Given the description of an element on the screen output the (x, y) to click on. 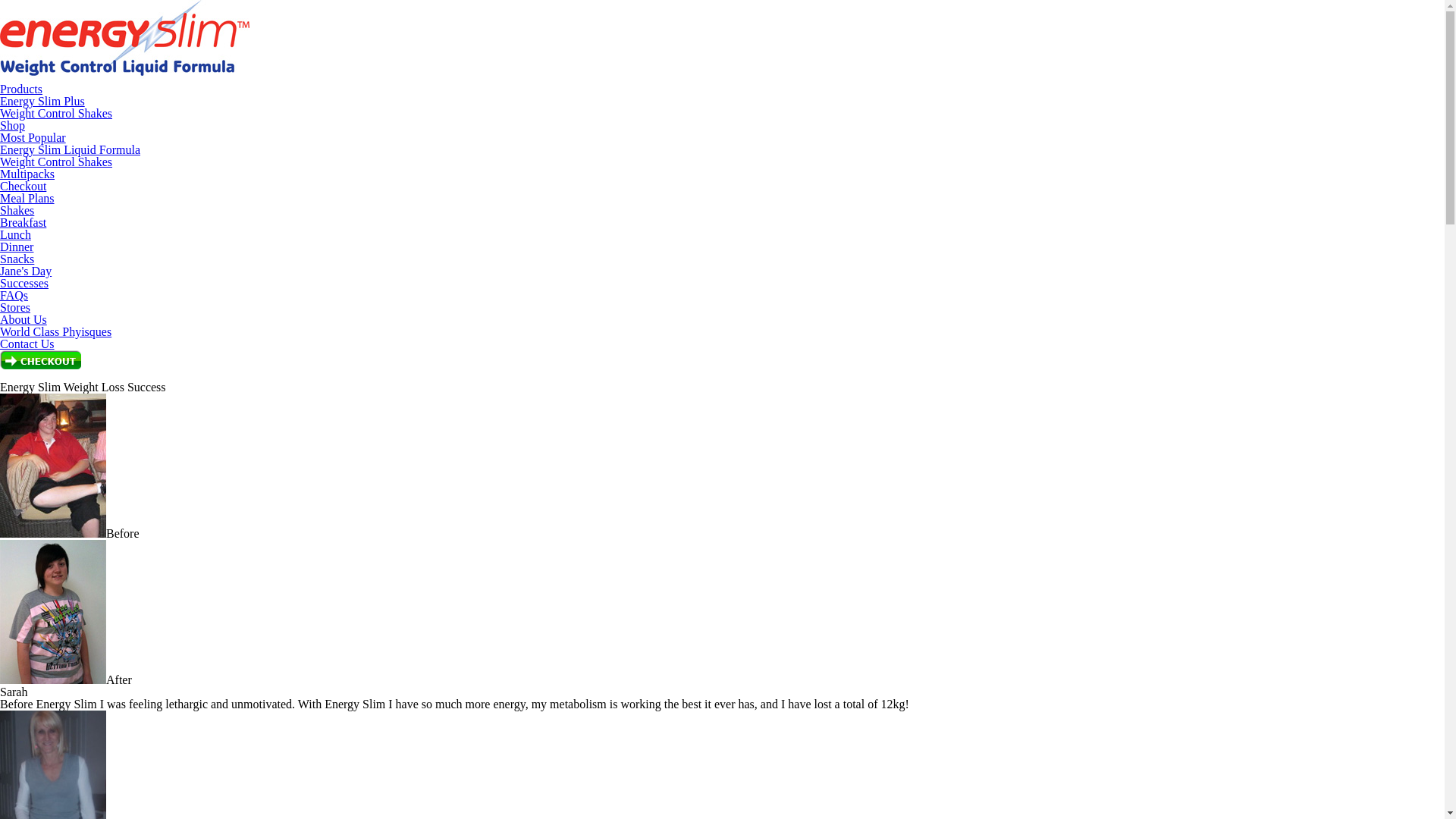
Shakes Element type: text (17, 209)
Multipacks Element type: text (27, 173)
Stores Element type: text (15, 307)
Products Element type: text (21, 88)
FAQs Element type: text (14, 294)
World Class Phyisques Element type: text (55, 331)
Checkout Element type: text (23, 185)
Successes Element type: text (24, 282)
Energy Slim Plus Element type: text (42, 100)
Lunch Element type: text (15, 234)
Breakfast Element type: text (23, 222)
Shop Element type: text (12, 125)
Meal Plans Element type: text (27, 197)
About Us Element type: text (23, 319)
Dinner Element type: text (16, 246)
Energy Slim Liquid Formula Element type: text (70, 149)
Jane's Day Element type: text (25, 270)
Contact Us Element type: text (27, 343)
Weight Control Shakes Element type: text (56, 112)
Snacks Element type: text (17, 258)
Most Popular Element type: text (32, 137)
Weight Control Shakes Element type: text (56, 161)
